Given the description of an element on the screen output the (x, y) to click on. 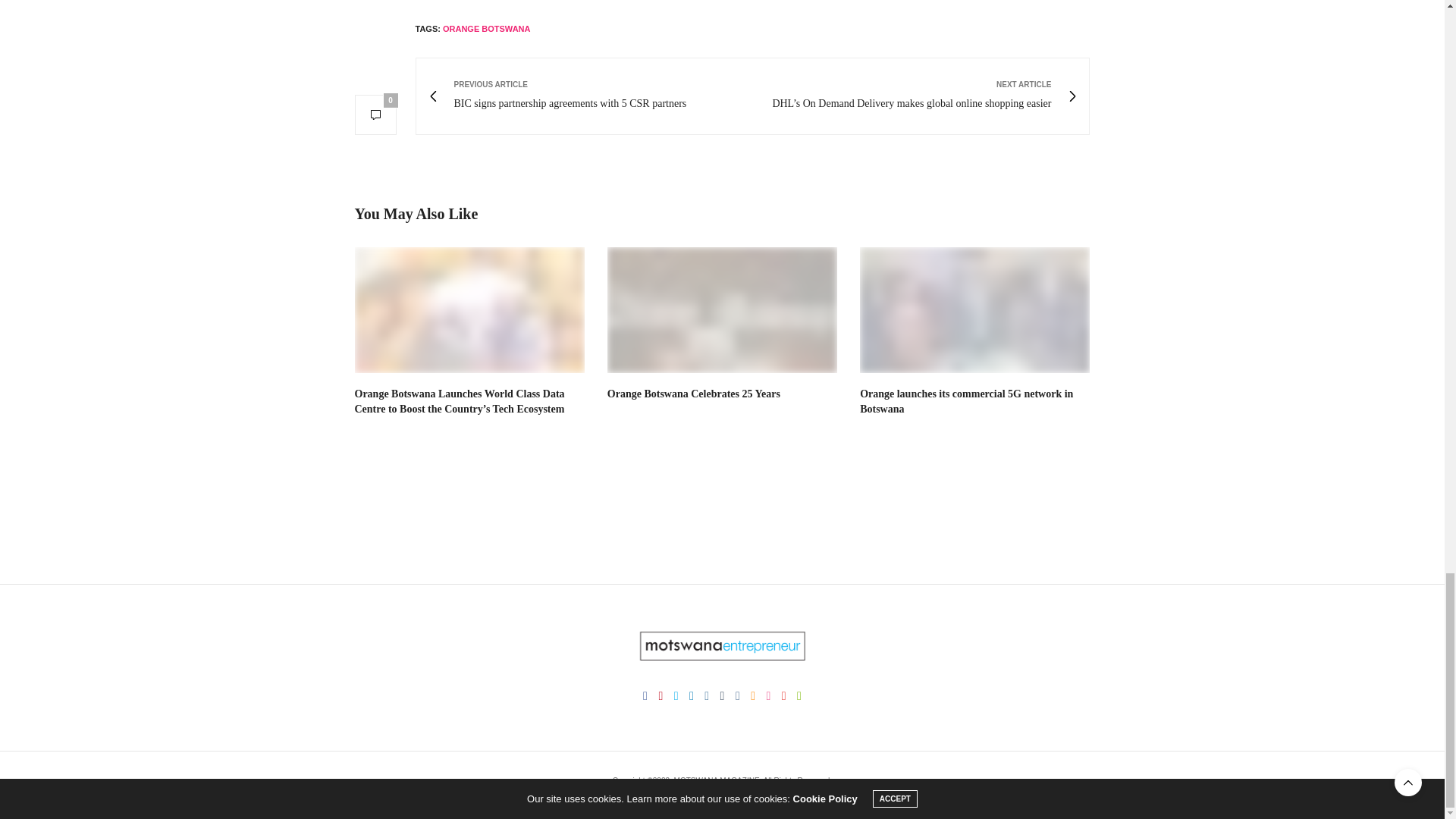
Orange Botswana Celebrates 25 Years (693, 393)
Orange Botswana Celebrates 25 Years (722, 310)
ORANGE BOTSWANA (486, 28)
Orange launches its commercial 5G network in Botswana (966, 401)
Orange Botswana Celebrates 25 Years (693, 393)
Orange launches its commercial 5G network in Botswana (974, 310)
Motswana (722, 644)
Orange launches its commercial 5G network in Botswana (966, 401)
